Given the description of an element on the screen output the (x, y) to click on. 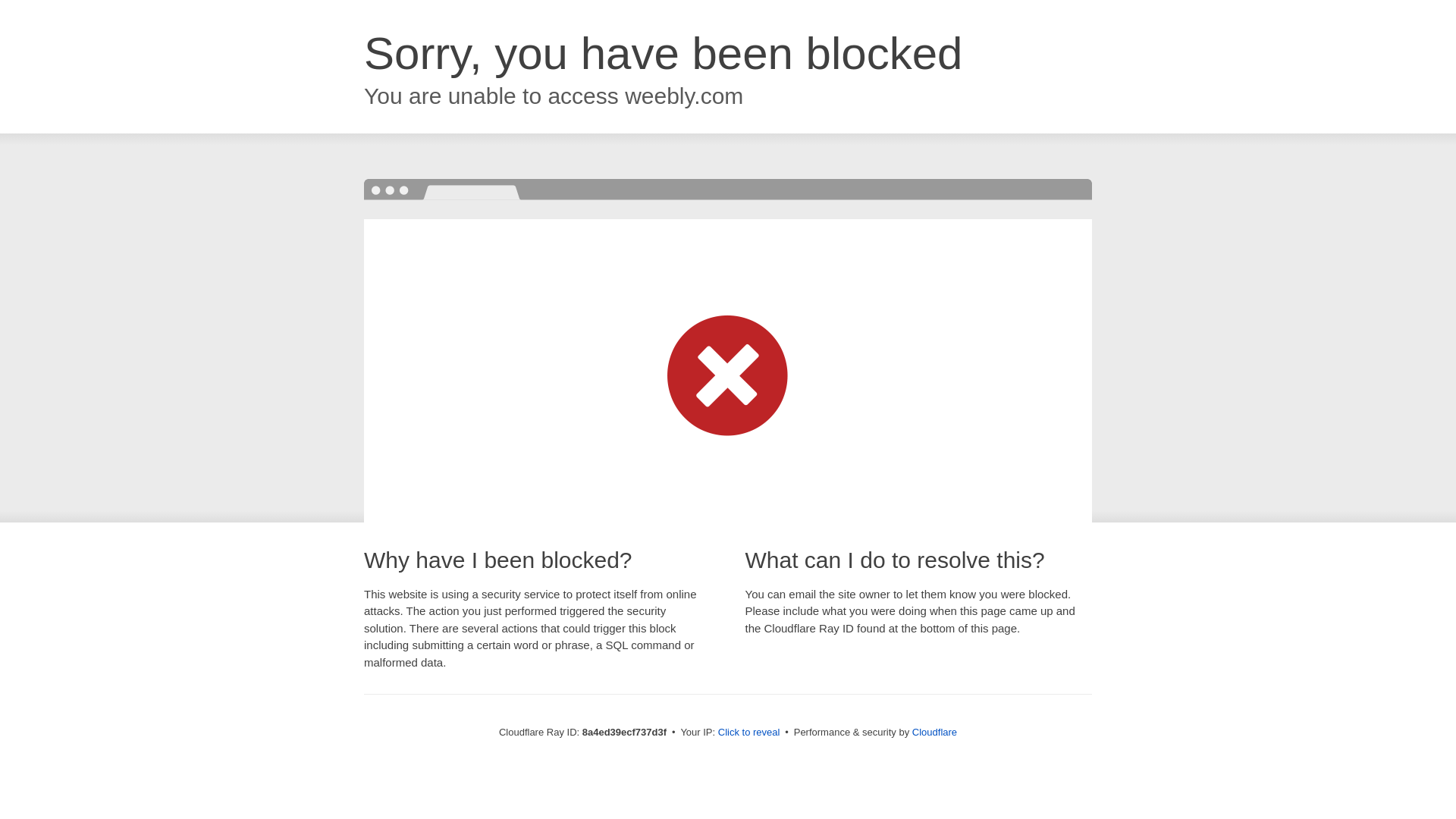
Cloudflare (934, 731)
Click to reveal (748, 732)
